Given the description of an element on the screen output the (x, y) to click on. 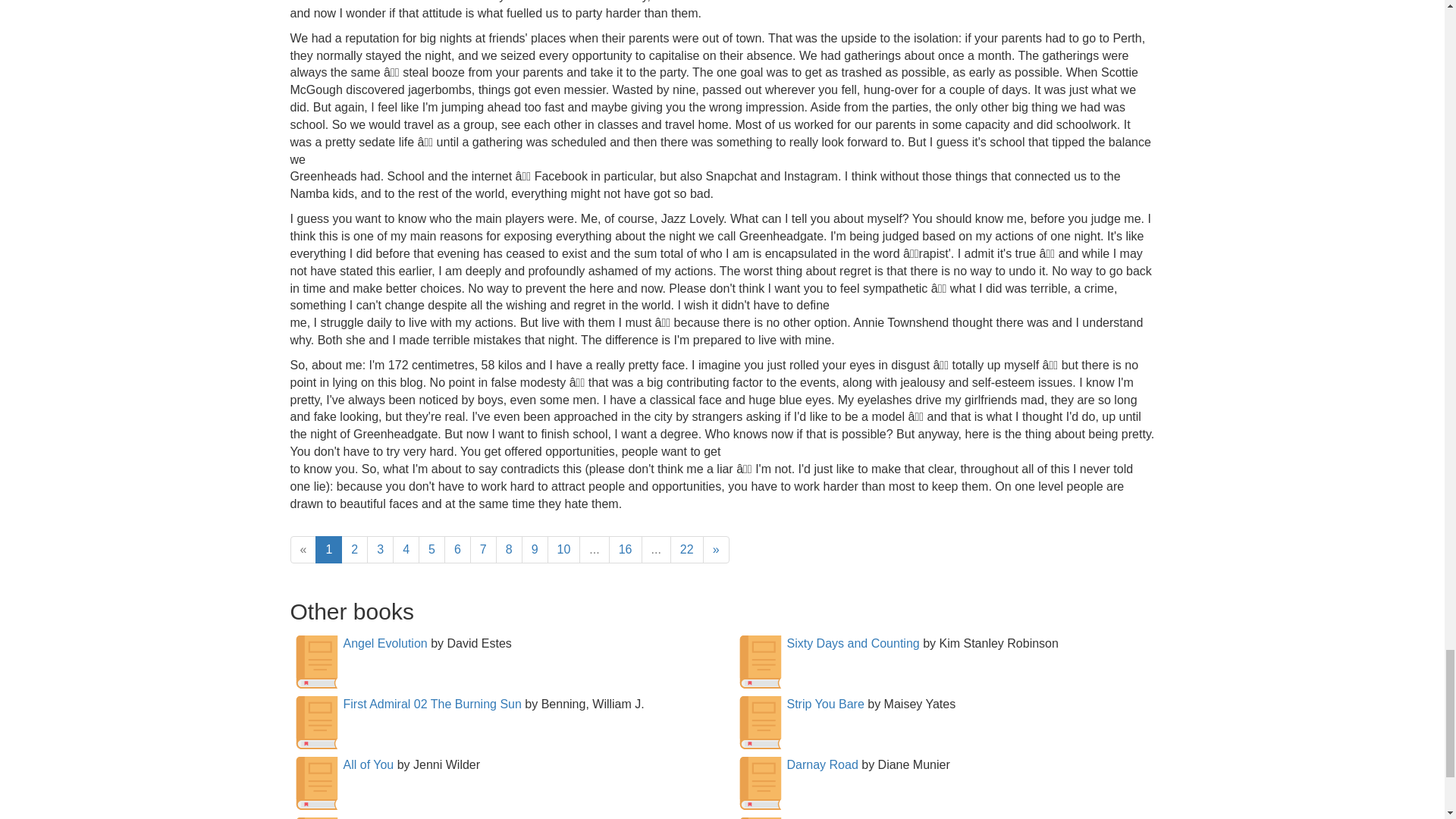
5 (432, 549)
9 (534, 549)
6 (457, 549)
7 (483, 549)
All of You (367, 764)
16 (625, 549)
10 (563, 549)
3 (379, 549)
2 (354, 549)
Strip You Bare (825, 703)
